Given the description of an element on the screen output the (x, y) to click on. 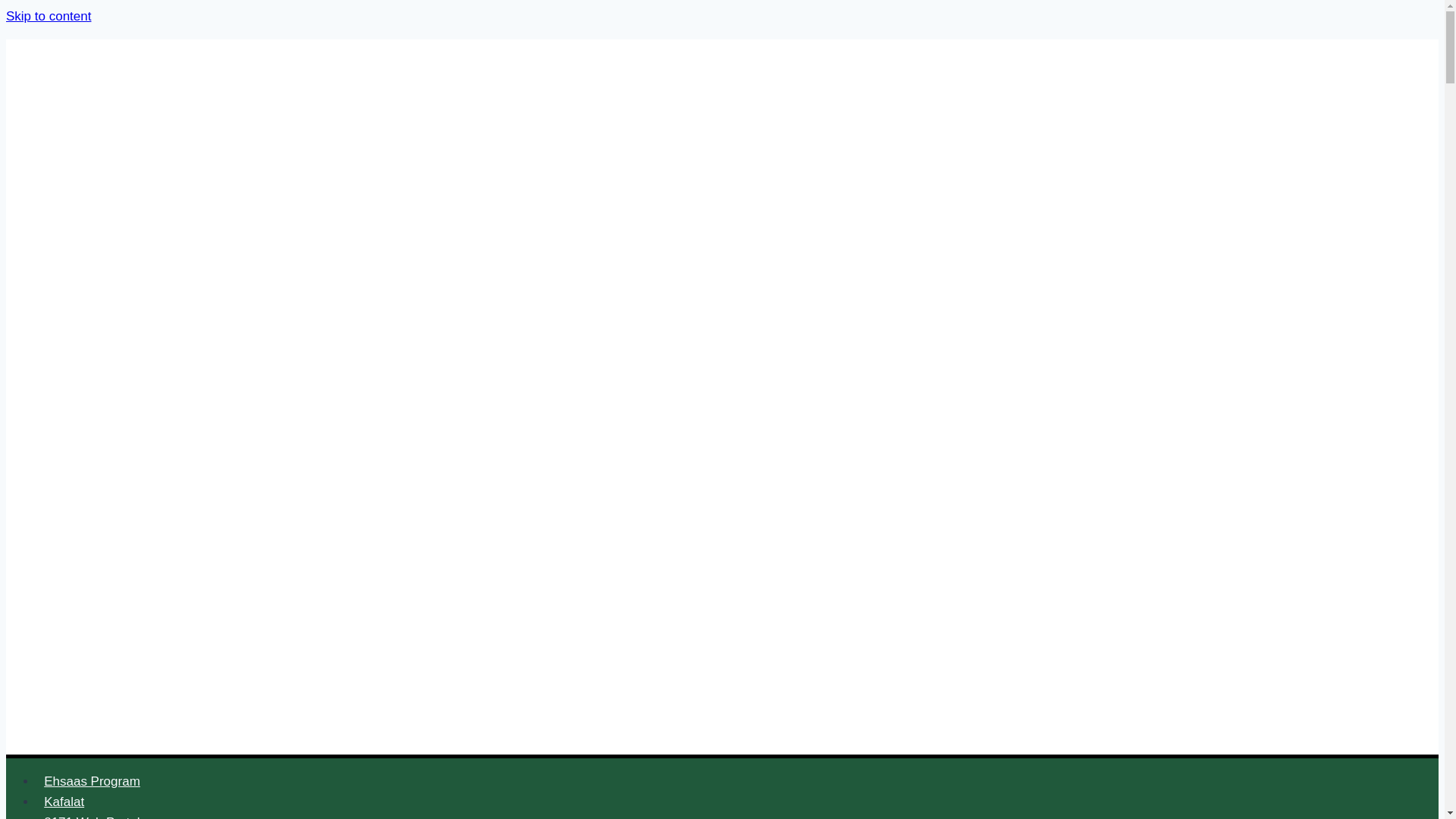
Kafalat (63, 801)
Ehsaas Program (92, 781)
Skip to content (47, 16)
8171 Web Portal (92, 813)
Skip to content (47, 16)
